Given the description of an element on the screen output the (x, y) to click on. 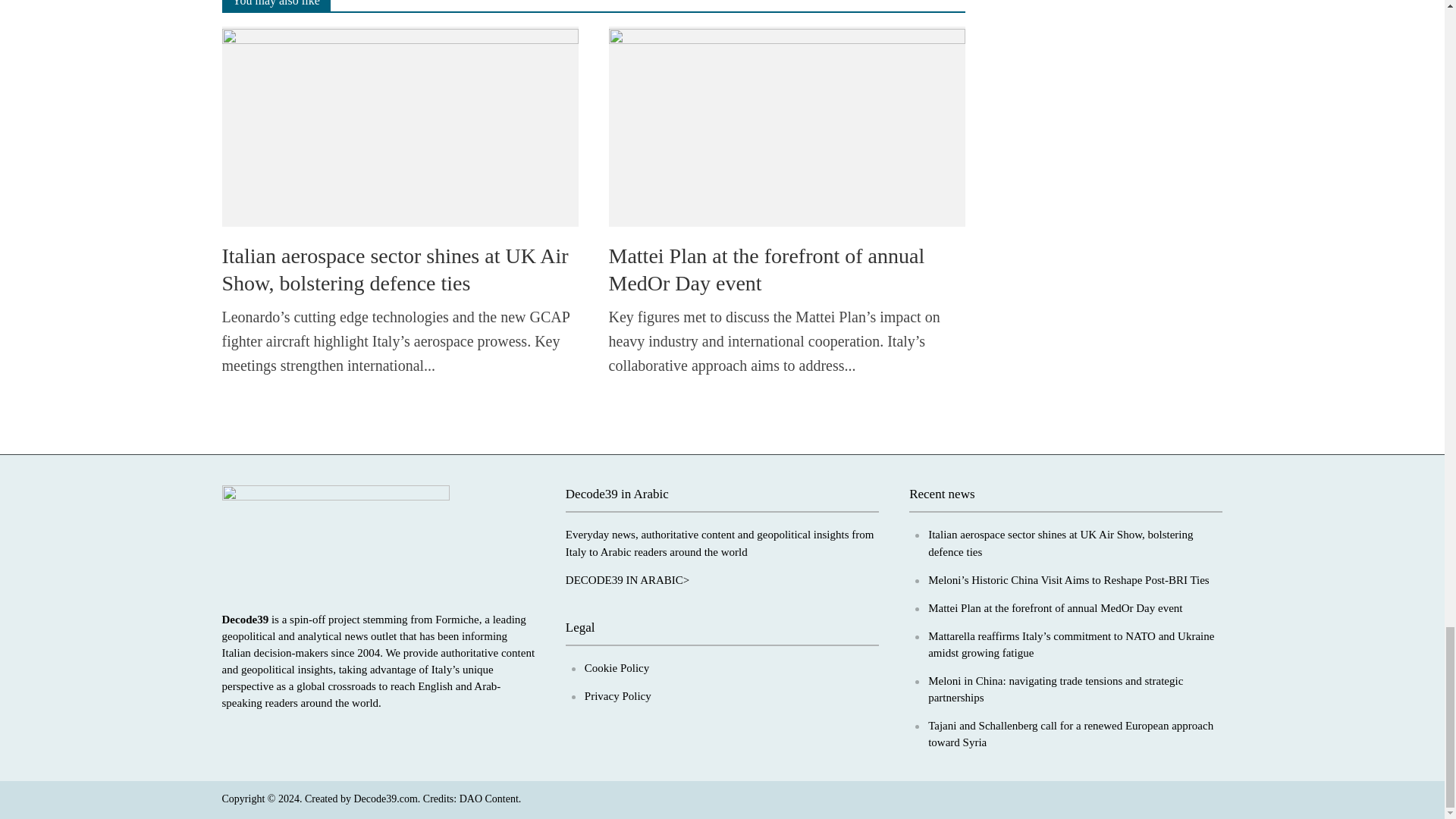
Mattei Plan at the forefront of annual MedOr Day event (785, 124)
